Given the description of an element on the screen output the (x, y) to click on. 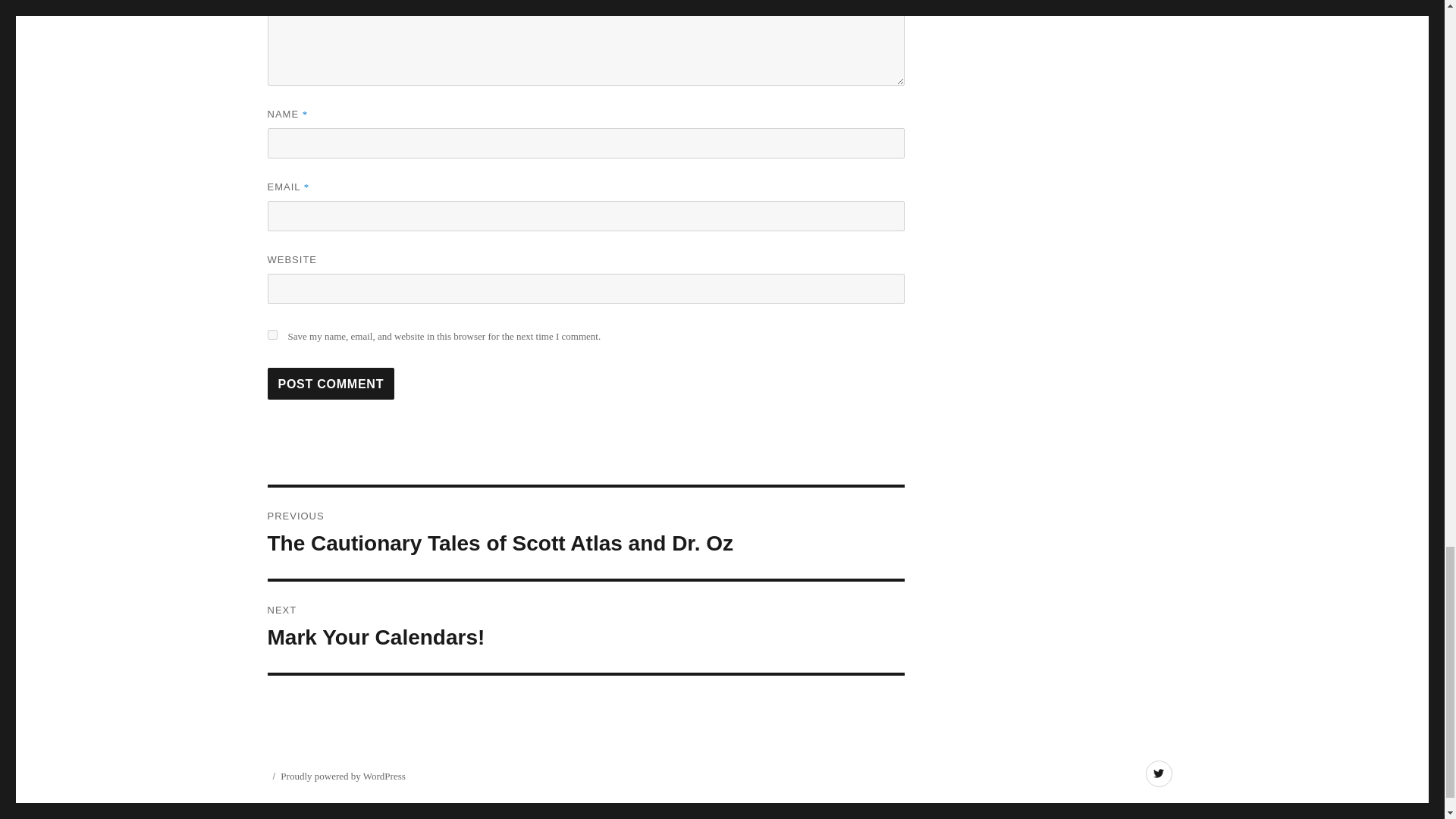
Post Comment (330, 383)
yes (271, 334)
Post Comment (330, 383)
